Given the description of an element on the screen output the (x, y) to click on. 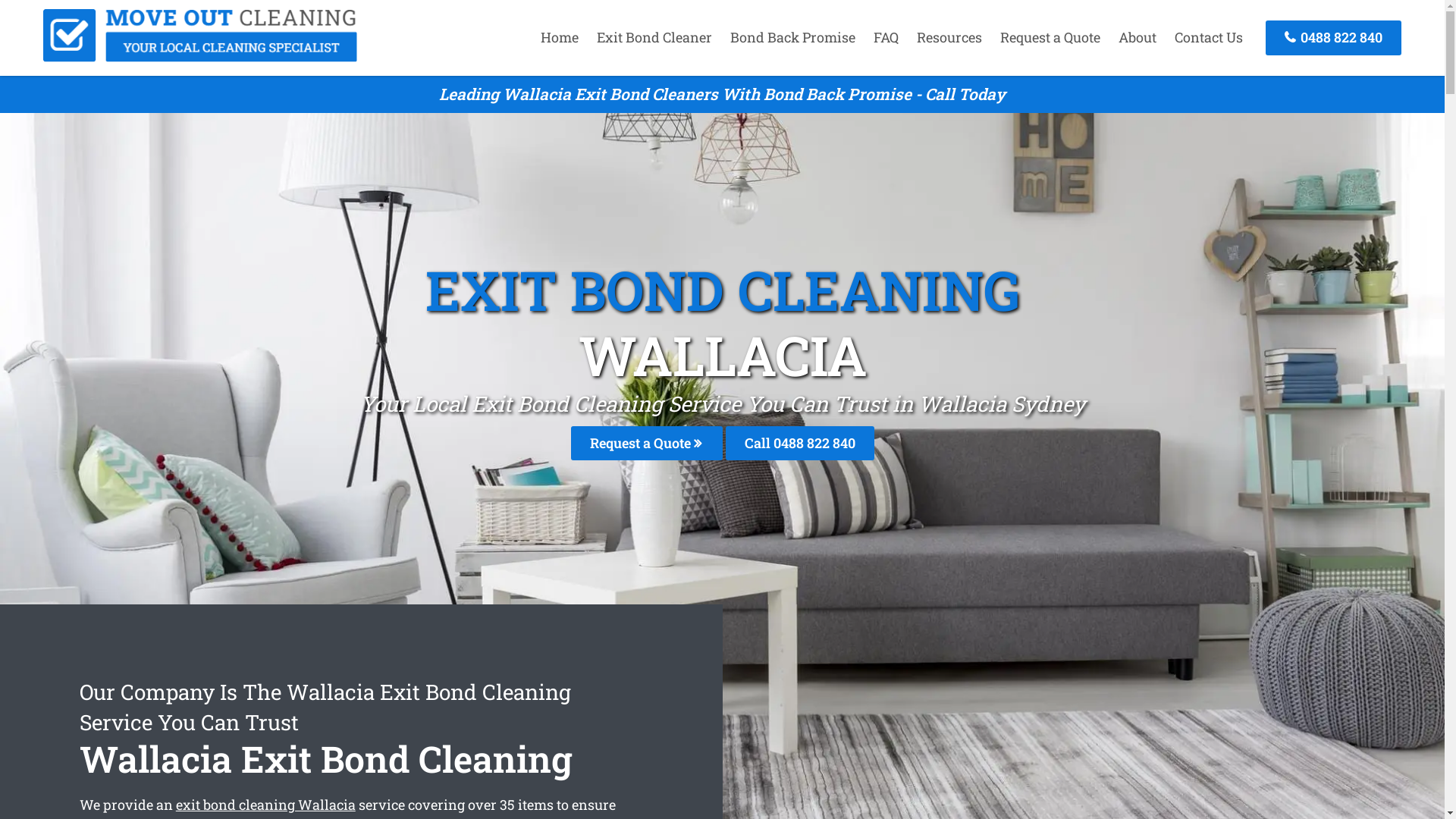
End of Lease Cleaning Element type: hover (200, 56)
Request a Quote Element type: text (645, 443)
Resources Element type: text (949, 37)
Request a Quote Element type: text (1049, 37)
exit bond cleaning Wallacia Element type: text (265, 804)
Exit Bond Cleaner Element type: text (654, 37)
About Element type: text (1137, 37)
Bond Back Promise Element type: text (792, 37)
Home Element type: text (559, 37)
Contact Us Element type: text (1208, 37)
FAQ Element type: text (886, 37)
Call 0488 822 840 Element type: text (798, 443)
0488 822 840 Element type: text (1333, 37)
